Given the description of an element on the screen output the (x, y) to click on. 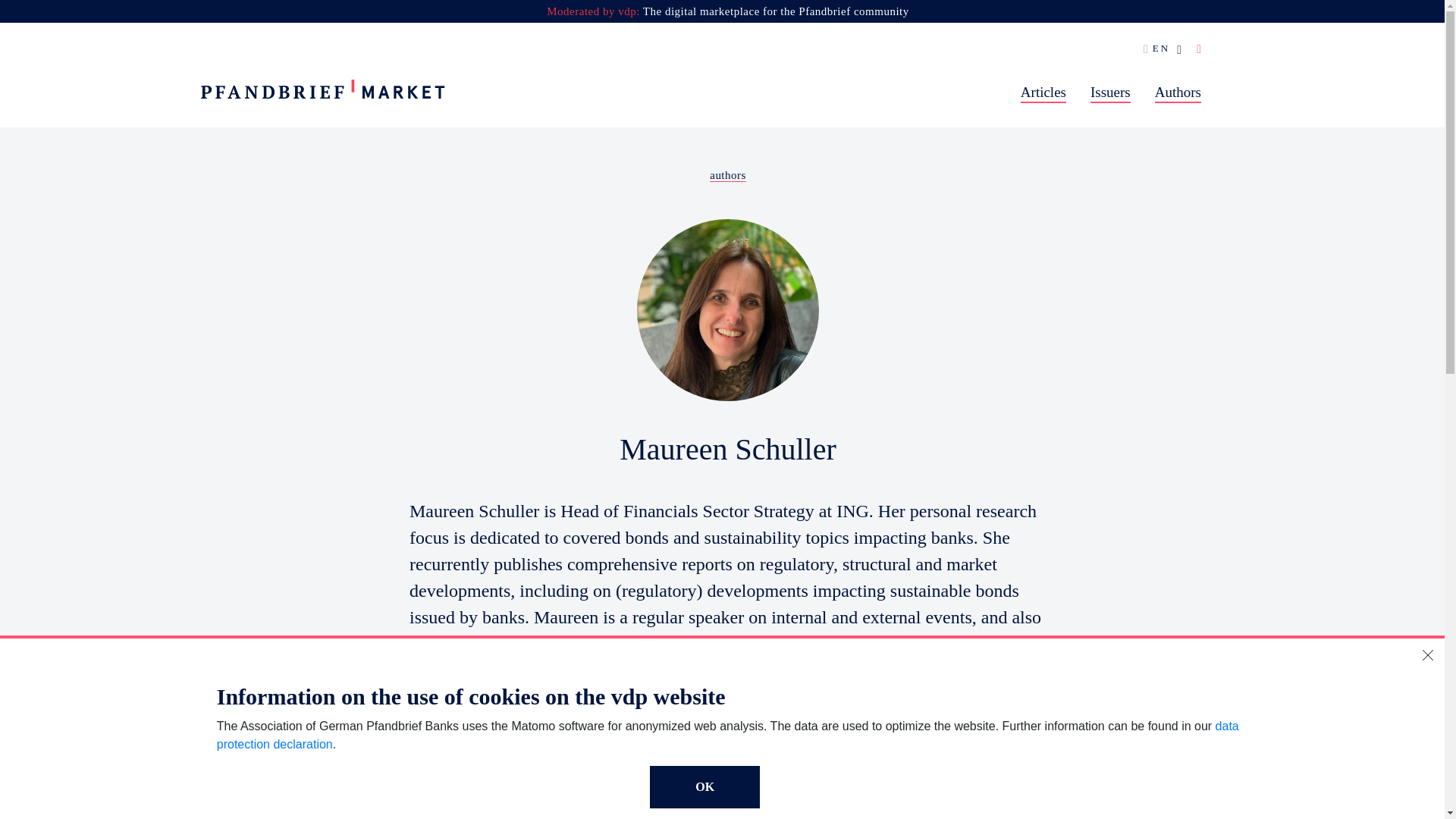
Authors (1177, 93)
Articles (1042, 93)
authors (727, 174)
Issuers (1110, 93)
EN (1161, 48)
data protection declaration (727, 735)
OK (704, 786)
